Given the description of an element on the screen output the (x, y) to click on. 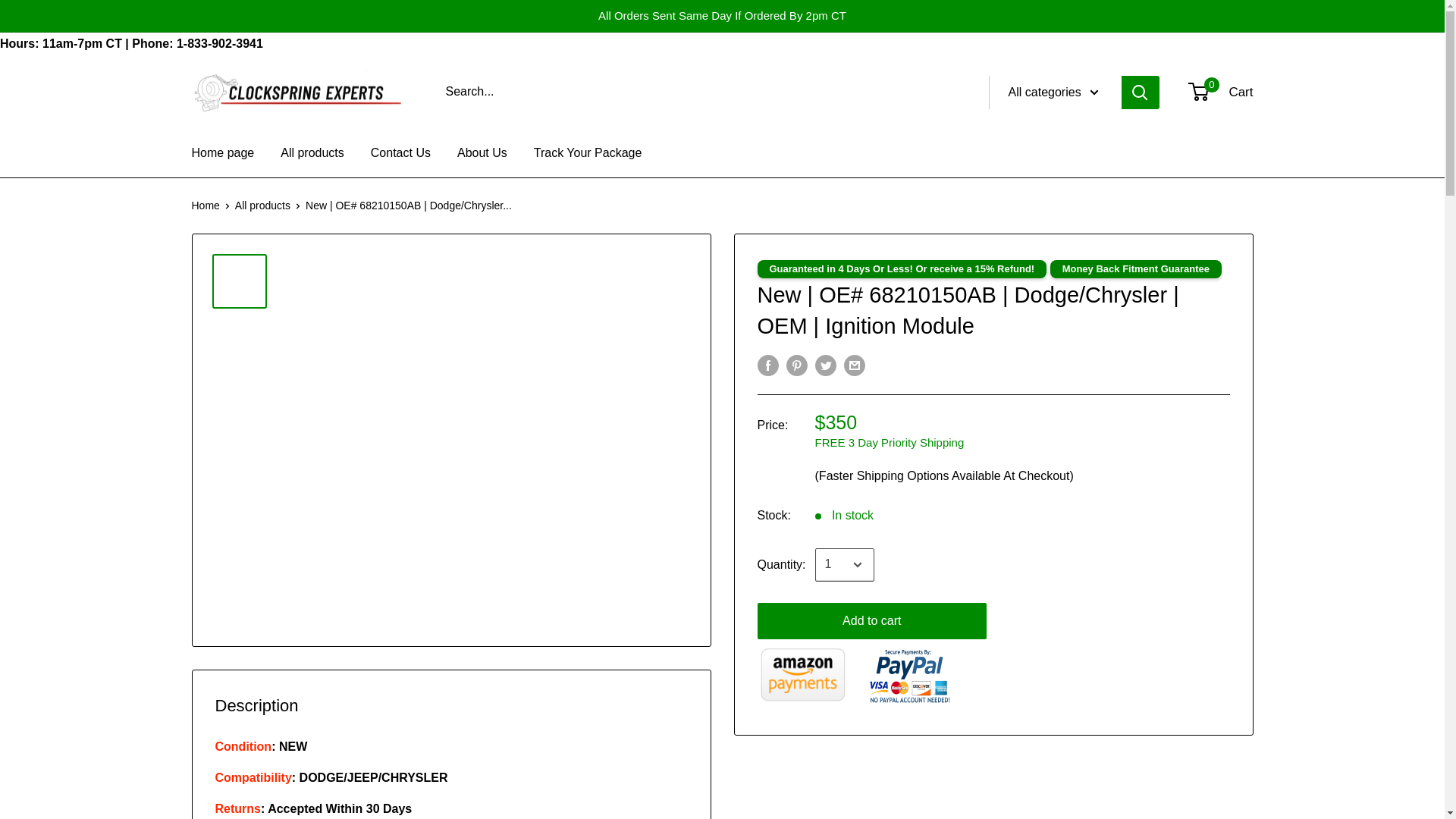
Contact Us (400, 152)
All products (261, 205)
Home page (221, 152)
Money Back Fitment Guarantee (1135, 269)
Add to cart (872, 620)
Track Your Package (588, 152)
Home (204, 205)
About Us (481, 152)
FREE 3 Day Priority Shipping (889, 441)
All products (312, 152)
1-833-902-3941 (1221, 92)
